Given the description of an element on the screen output the (x, y) to click on. 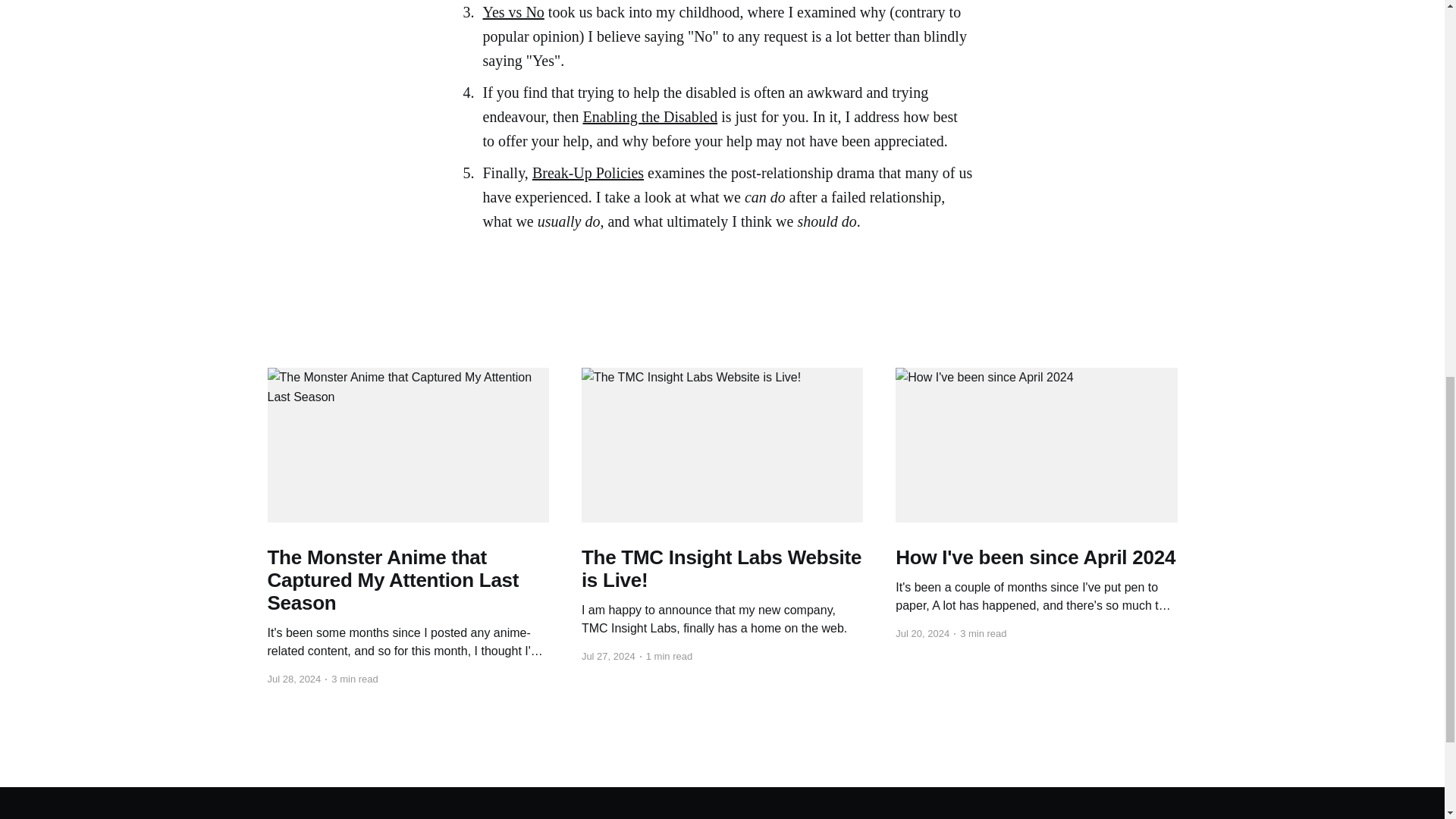
Yes vs No (512, 12)
Break-Up Policies (587, 172)
Enabling the Disabled (649, 116)
